Given the description of an element on the screen output the (x, y) to click on. 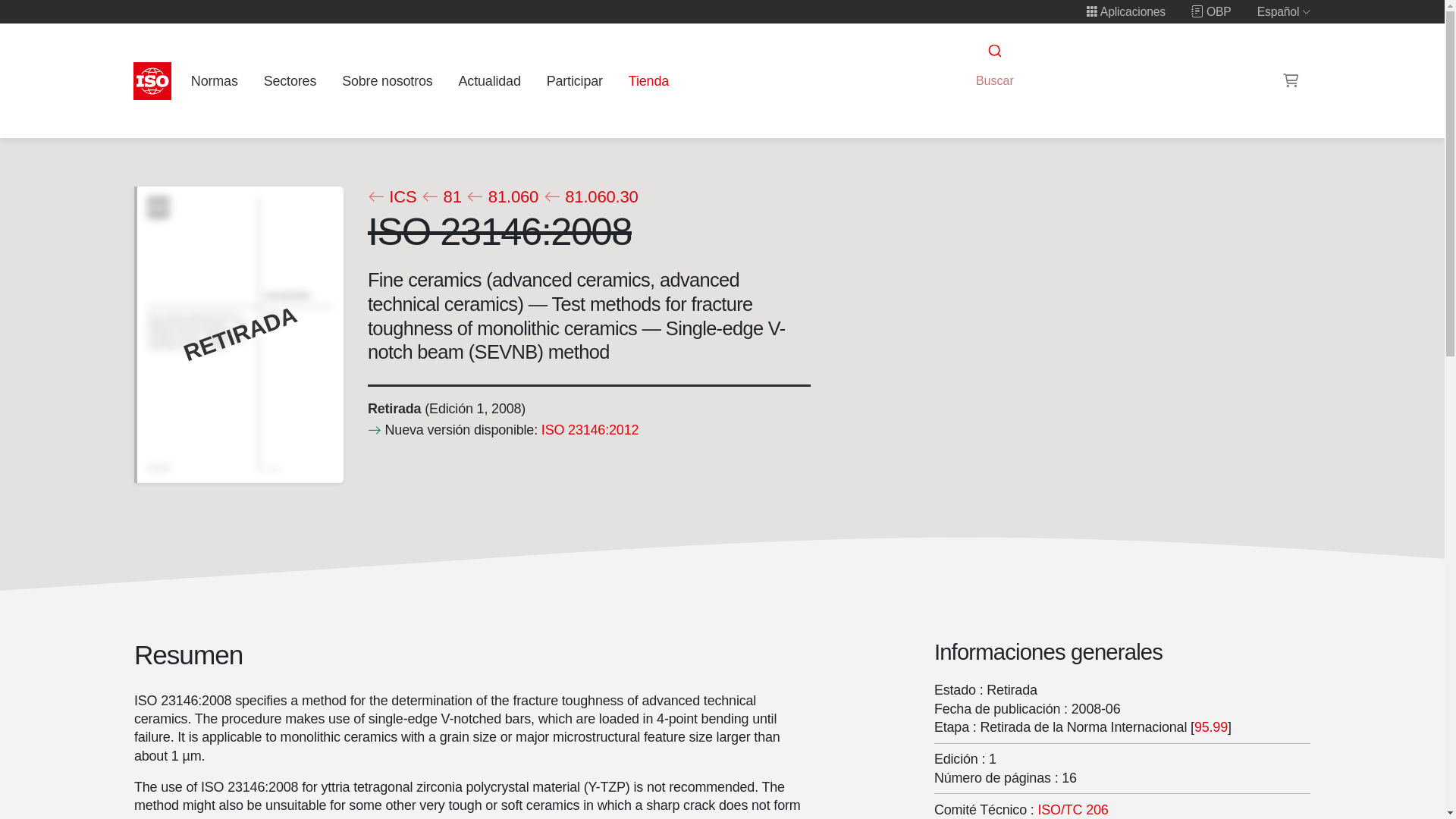
ICS (391, 197)
Portal de aplicaciones de ISO (1126, 11)
Actualidad (489, 80)
Retirada (393, 407)
Submit (993, 51)
 OBP (1211, 11)
Carro de la compra (1290, 80)
81.060 (501, 197)
Tienda (648, 80)
Sectores (290, 80)
ISO 23146:2012 (588, 429)
